Given the description of an element on the screen output the (x, y) to click on. 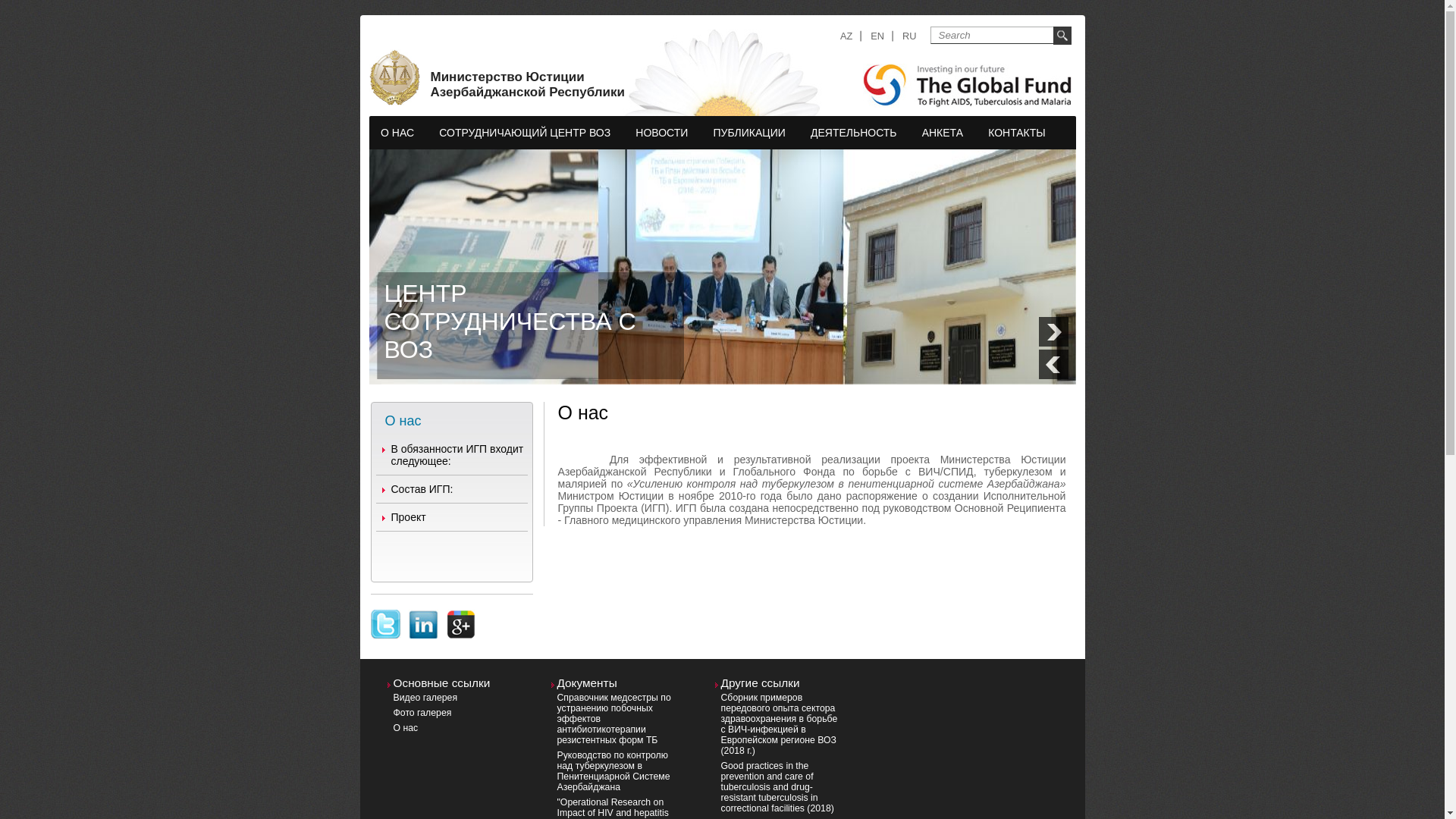
EN Element type: text (877, 35)
  Element type: text (461, 615)
  Element type: text (423, 615)
  Element type: text (385, 615)
AZ Element type: text (846, 35)
RU Element type: text (909, 35)
